Given the description of an element on the screen output the (x, y) to click on. 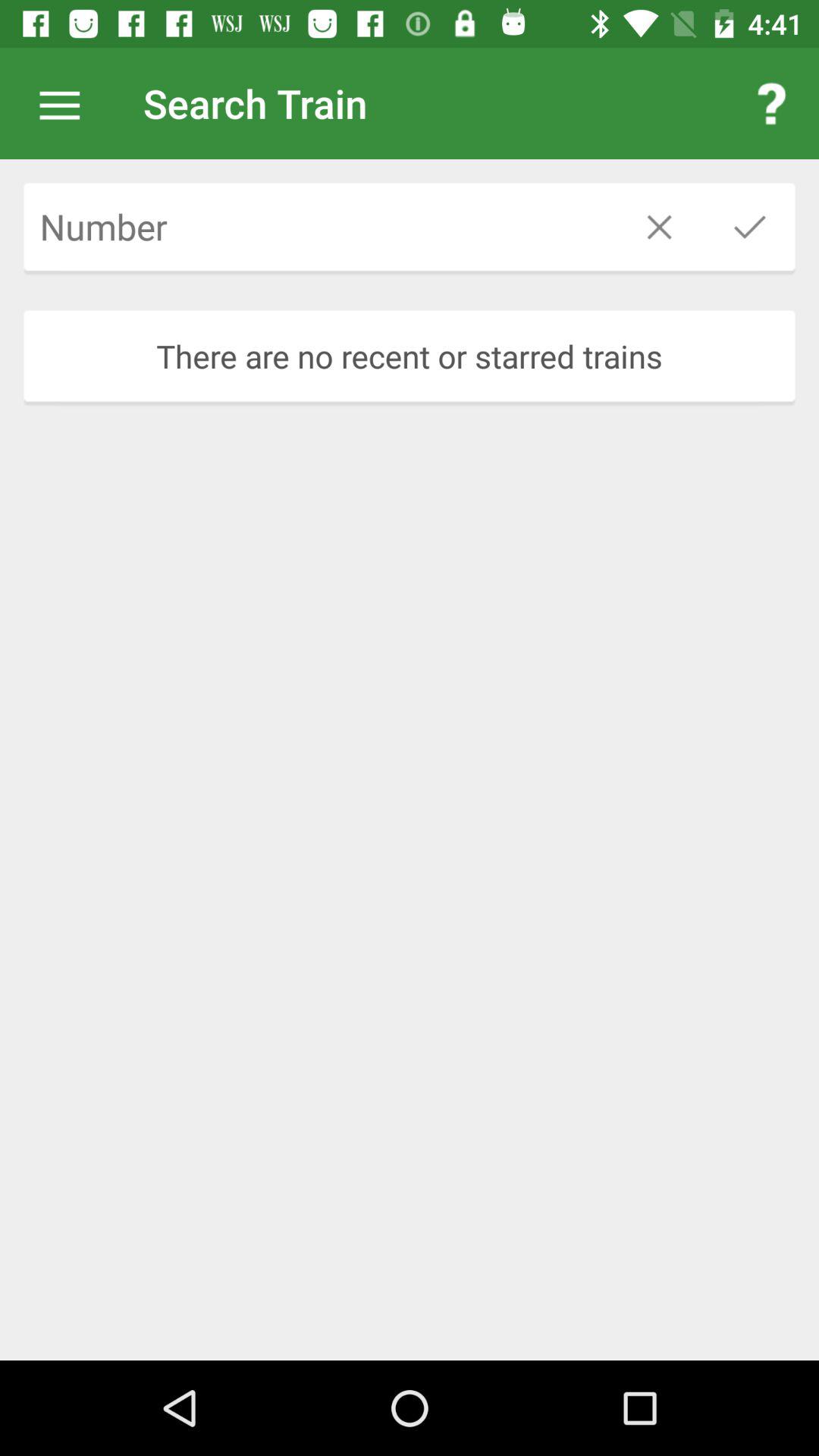
launch icon next to search train item (771, 103)
